Given the description of an element on the screen output the (x, y) to click on. 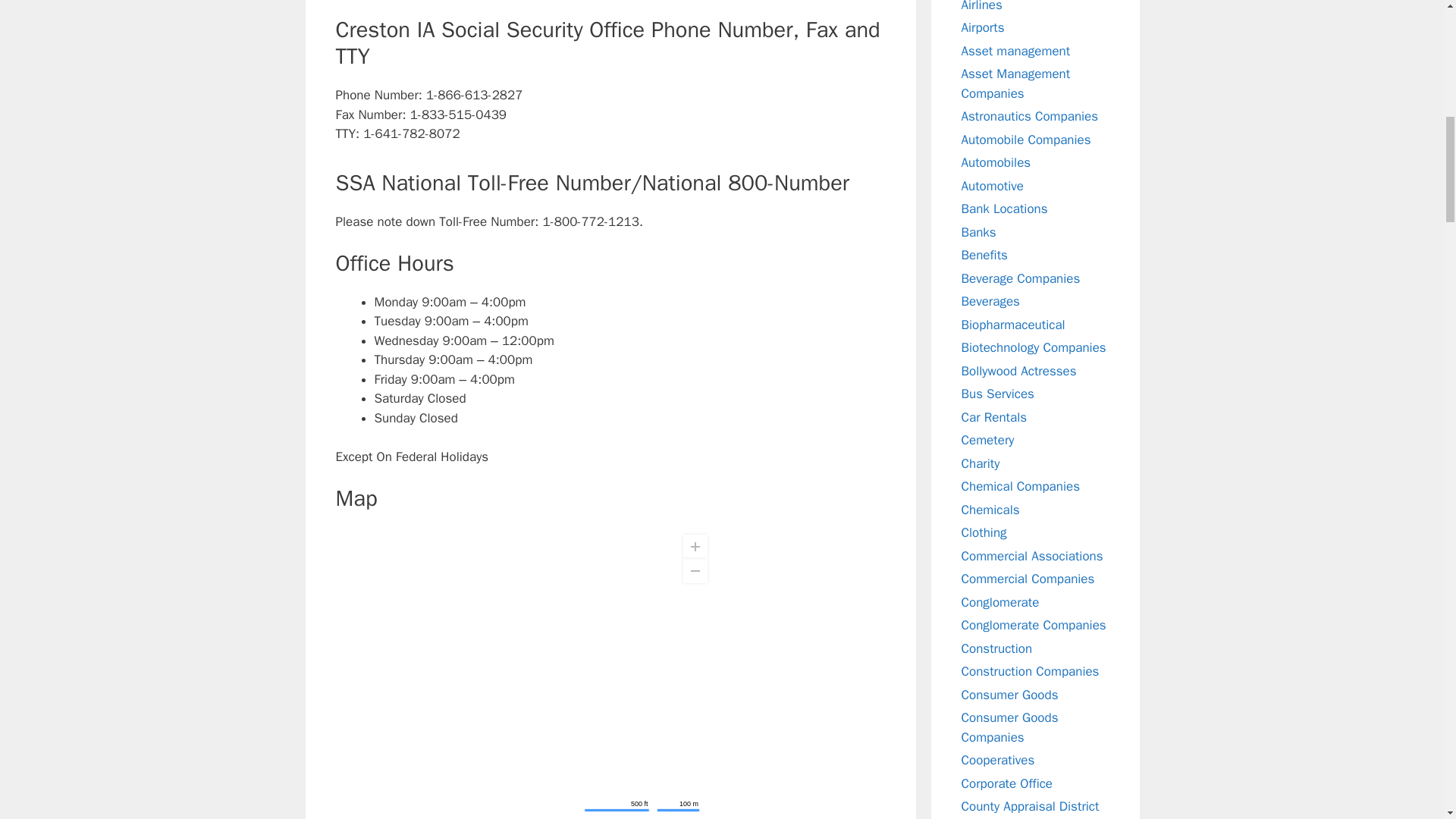
Bank Locations (1004, 208)
Airlines (981, 6)
Automobile Companies (1025, 139)
Automobiles (995, 162)
Astronautics Companies (1029, 116)
Benefits (983, 254)
Beverage Companies (1020, 277)
Asset Management Companies (1015, 83)
Airports (982, 27)
Asset management (1015, 50)
